Given the description of an element on the screen output the (x, y) to click on. 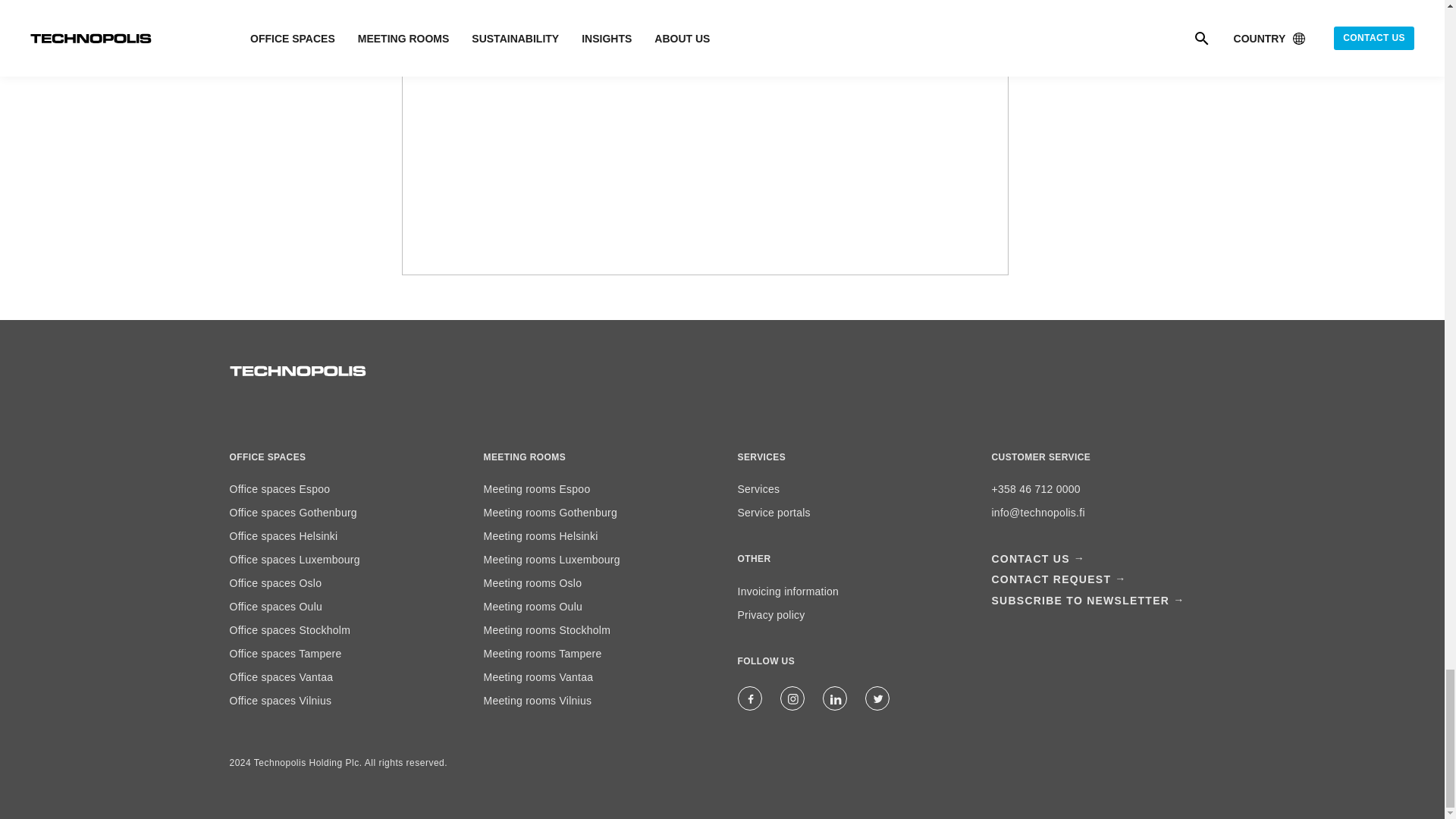
Meeting rooms Stockholm (547, 630)
Office spaces Vilnius (279, 700)
Office spaces Stockholm (289, 630)
Office spaces Helsinki (282, 535)
OFFICE SPACES (266, 457)
Office spaces Espoo (279, 489)
Meeting rooms Espoo (537, 489)
Meeting rooms Helsinki (540, 535)
Meeting rooms Vilnius (537, 700)
Office spaces Oslo (274, 582)
